Given the description of an element on the screen output the (x, y) to click on. 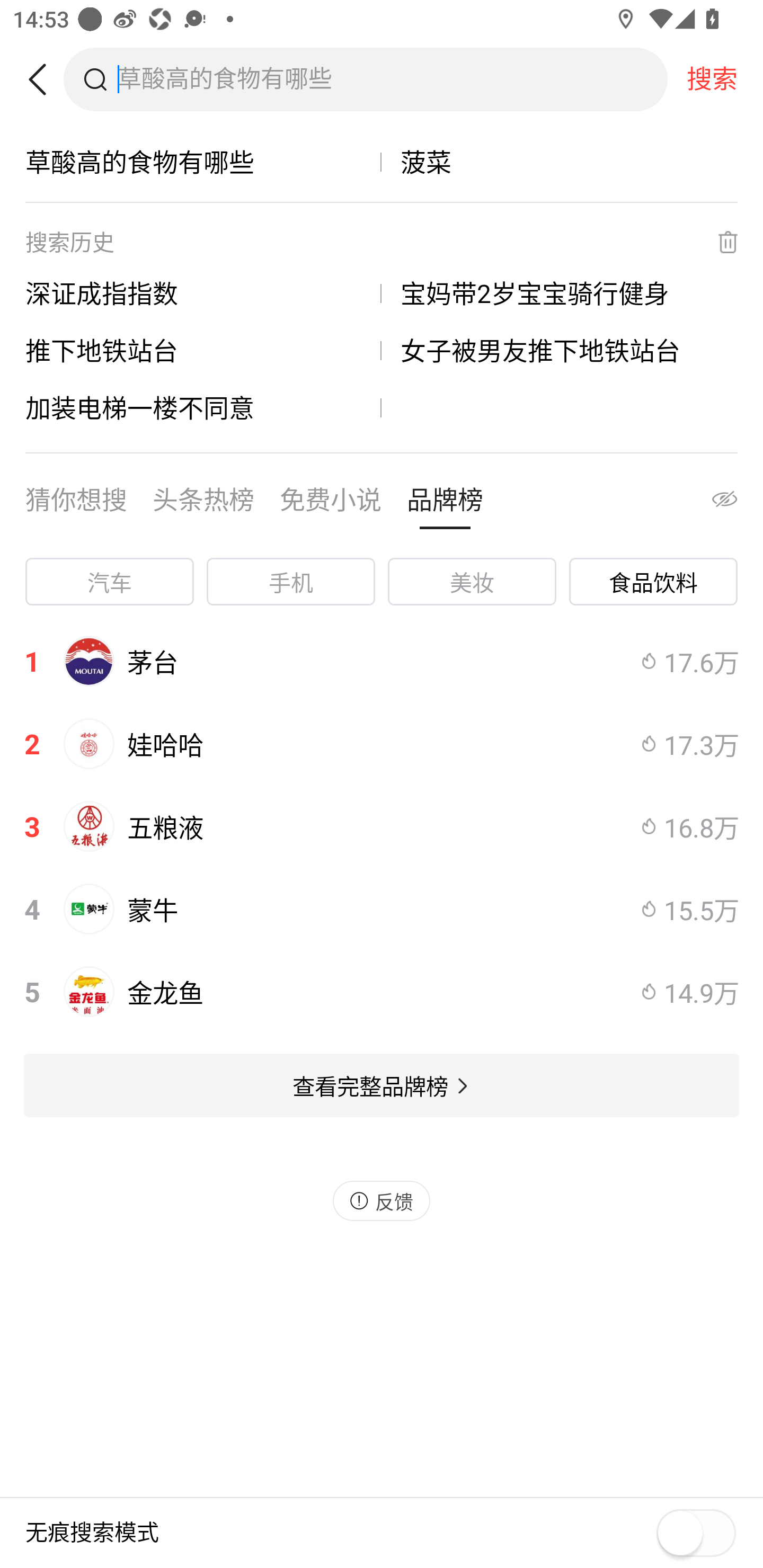
搜索框，草酸高的食物有哪些 (392, 79)
搜索 (711, 79)
返回 (44, 79)
草酸高的食物有哪些，链接, 草酸高的食物有哪些 (203, 162)
菠菜，链接, 菠菜 (559, 162)
删除搜索历史 (716, 242)
深证成指指数，链接, 深证成指指数 (203, 292)
宝妈带2岁宝宝骑行健身，链接, 宝妈带2岁宝宝骑行健身 (559, 292)
推下地铁站台，链接, 推下地铁站台 (203, 350)
女子被男友推下地铁站台，链接, 女子被男友推下地铁站台 (559, 350)
加装电梯一楼不同意，链接, 加装电梯一楼不同意 (203, 407)
猜你想搜 按钮 (76, 503)
头条热榜 按钮 (203, 503)
免费小说 按钮 (330, 503)
品牌榜 按钮 已选中 (444, 503)
隐藏全部推荐词内容 按钮 (706, 503)
汽车,按钮 (109, 581)
手机,按钮 (290, 581)
美妆,按钮 (471, 581)
食品饮料,选中 (653, 581)
1,茅台热度值,17.6万 (381, 660)
2,娃哈哈热度值,17.3万 (381, 743)
3,五粮液热度值,16.8万 (381, 826)
4,蒙牛热度值,15.5万 (381, 909)
5,金龙鱼热度值,14.9万 (381, 991)
查看完整品牌榜 按钮 (381, 1084)
反馈, 按钮 (381, 1200)
